Given the description of an element on the screen output the (x, y) to click on. 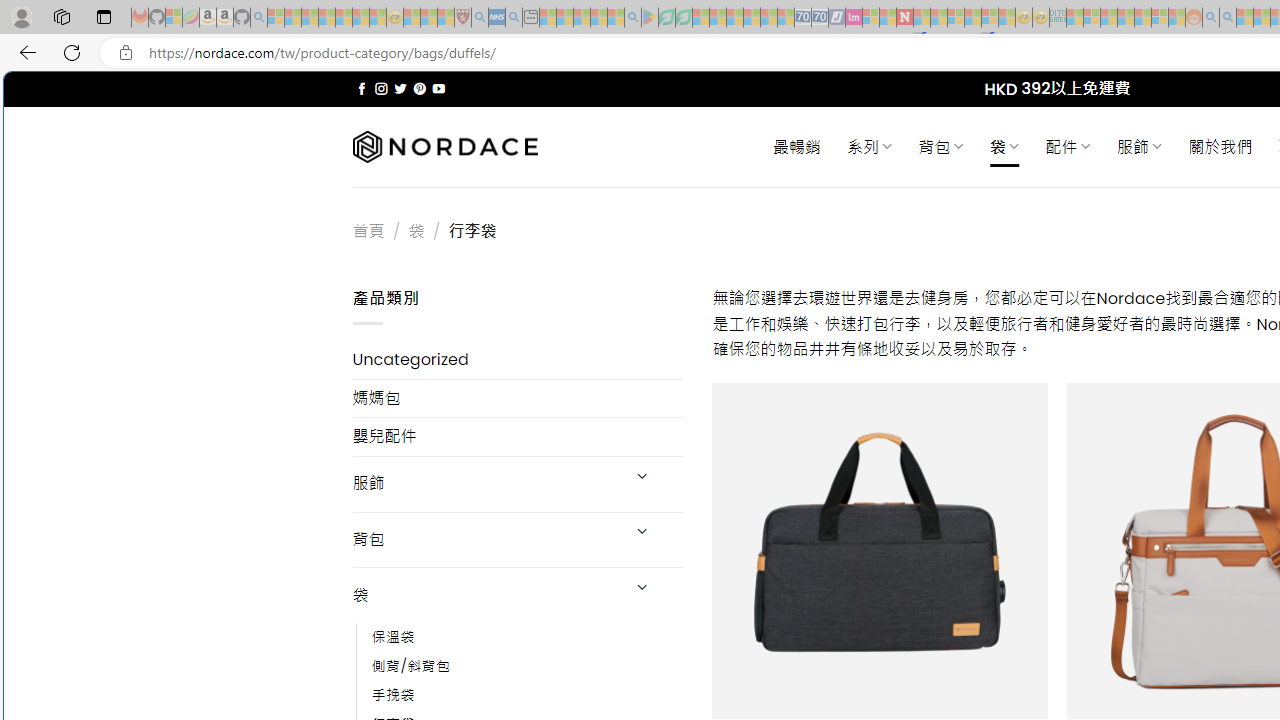
utah sues federal government - Search - Sleeping (513, 17)
Follow on Pinterest (419, 88)
